Given the description of an element on the screen output the (x, y) to click on. 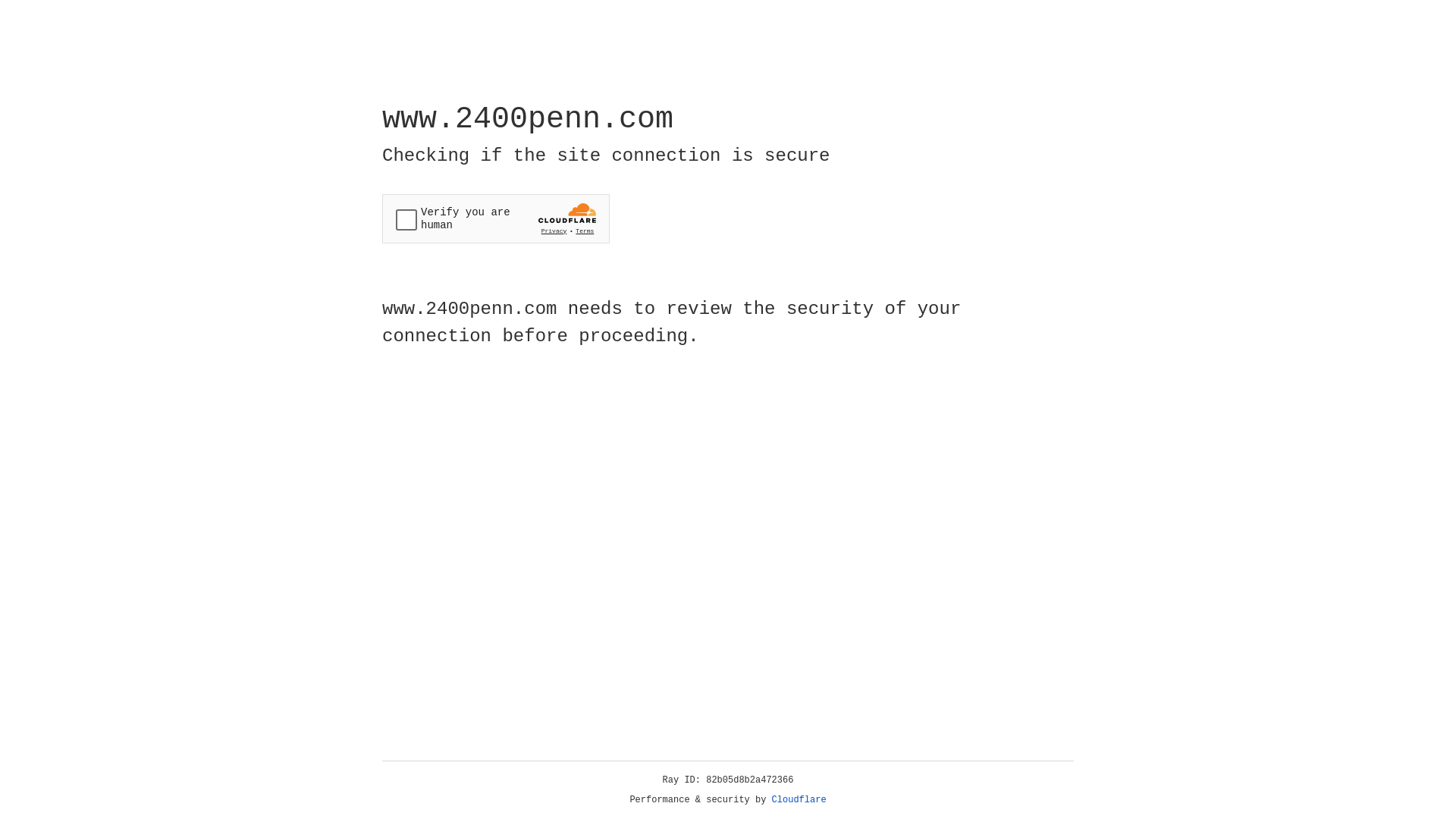
Cloudflare Element type: text (798, 799)
Widget containing a Cloudflare security challenge Element type: hover (495, 218)
